Given the description of an element on the screen output the (x, y) to click on. 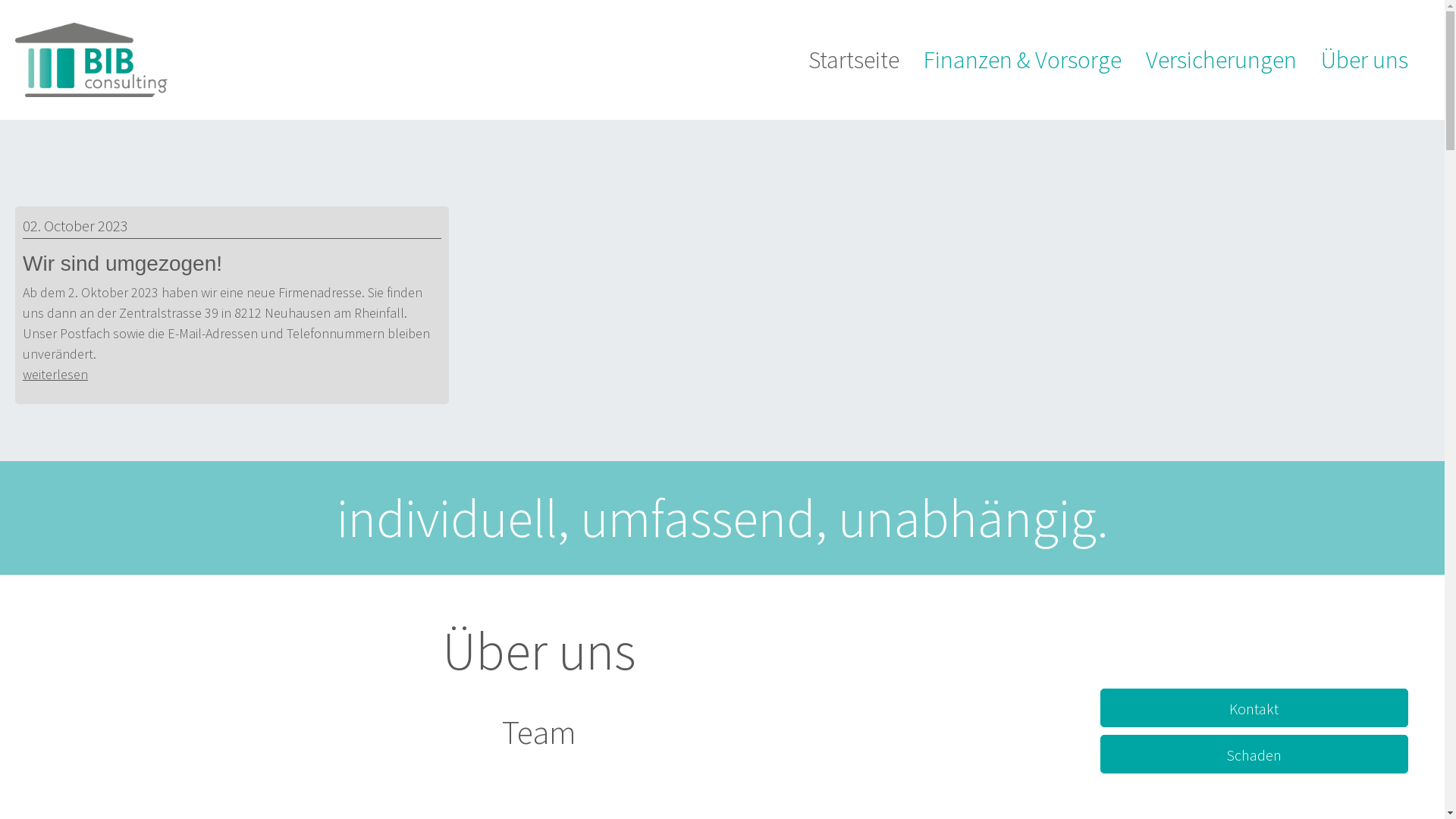
Versicherungen Element type: text (1220, 59)
Kontakt Element type: text (1253, 707)
Schaden Element type: text (1253, 753)
Startseite Element type: text (853, 59)
Finanzen & Vorsorge Element type: text (1022, 59)
